Given the description of an element on the screen output the (x, y) to click on. 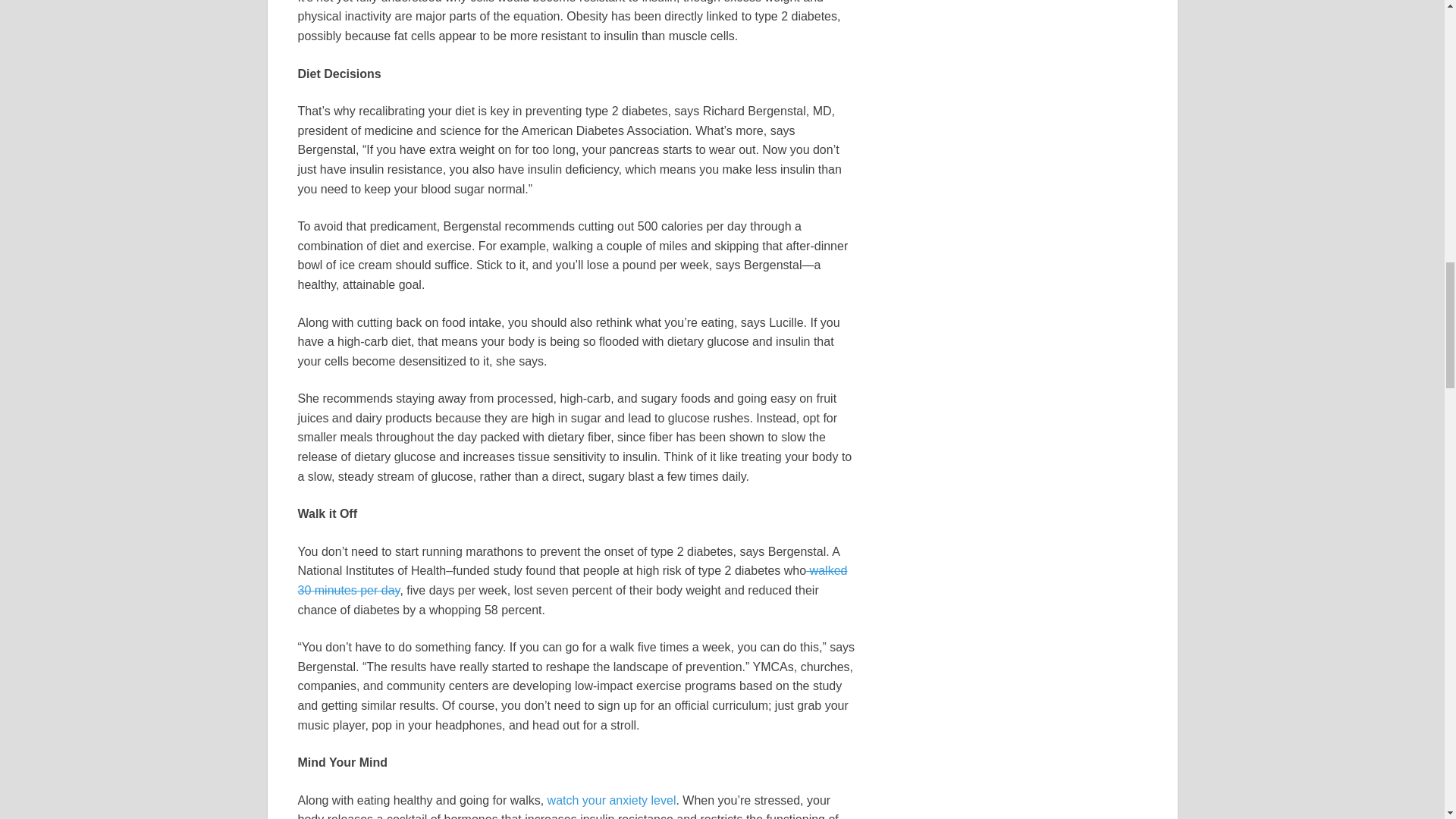
watch your anxiety level (609, 799)
walked 30 minutes per day (572, 580)
